Given the description of an element on the screen output the (x, y) to click on. 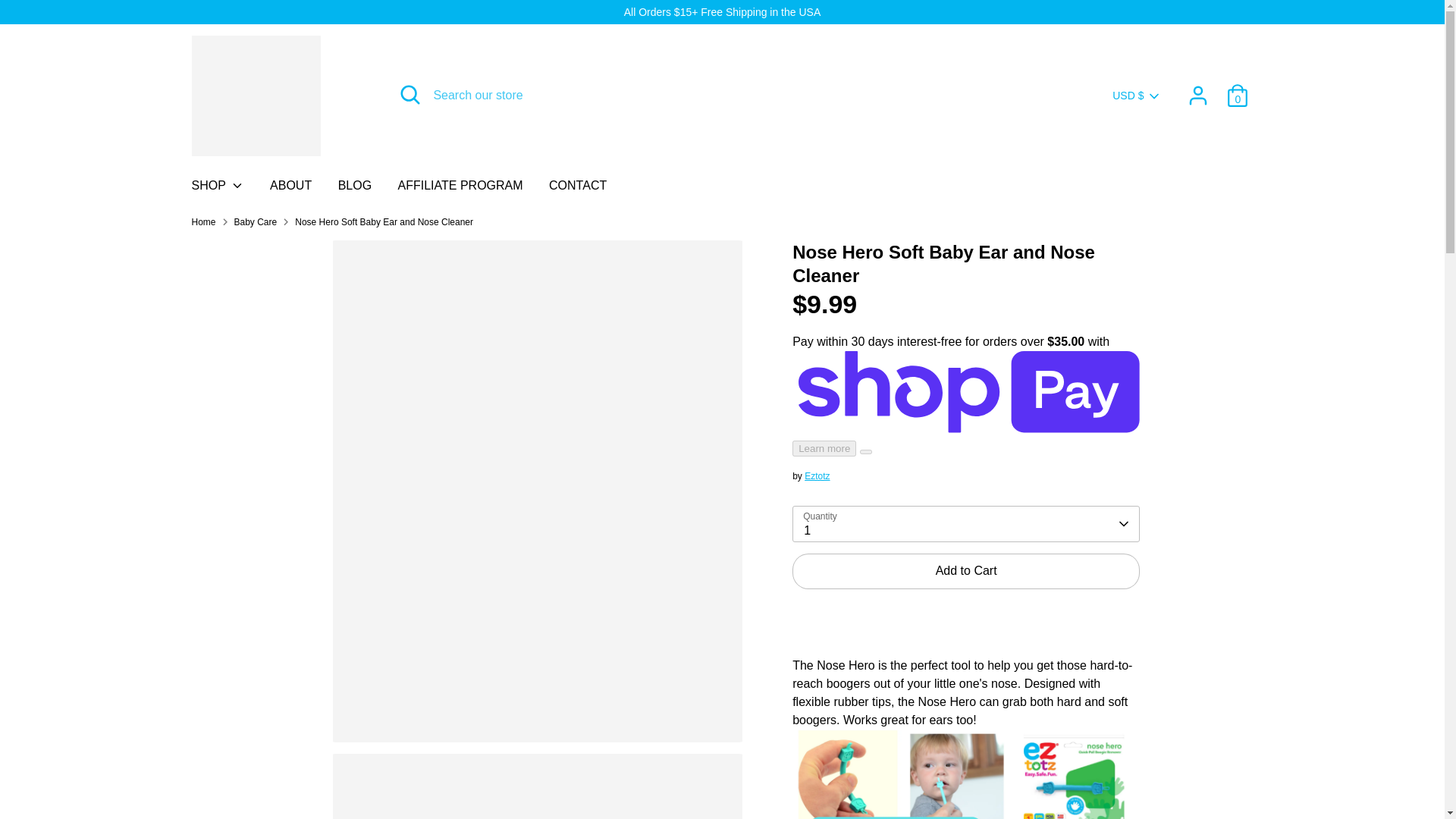
0 (1237, 95)
SHOP (218, 189)
BLOG (354, 189)
ABOUT (291, 189)
